Given the description of an element on the screen output the (x, y) to click on. 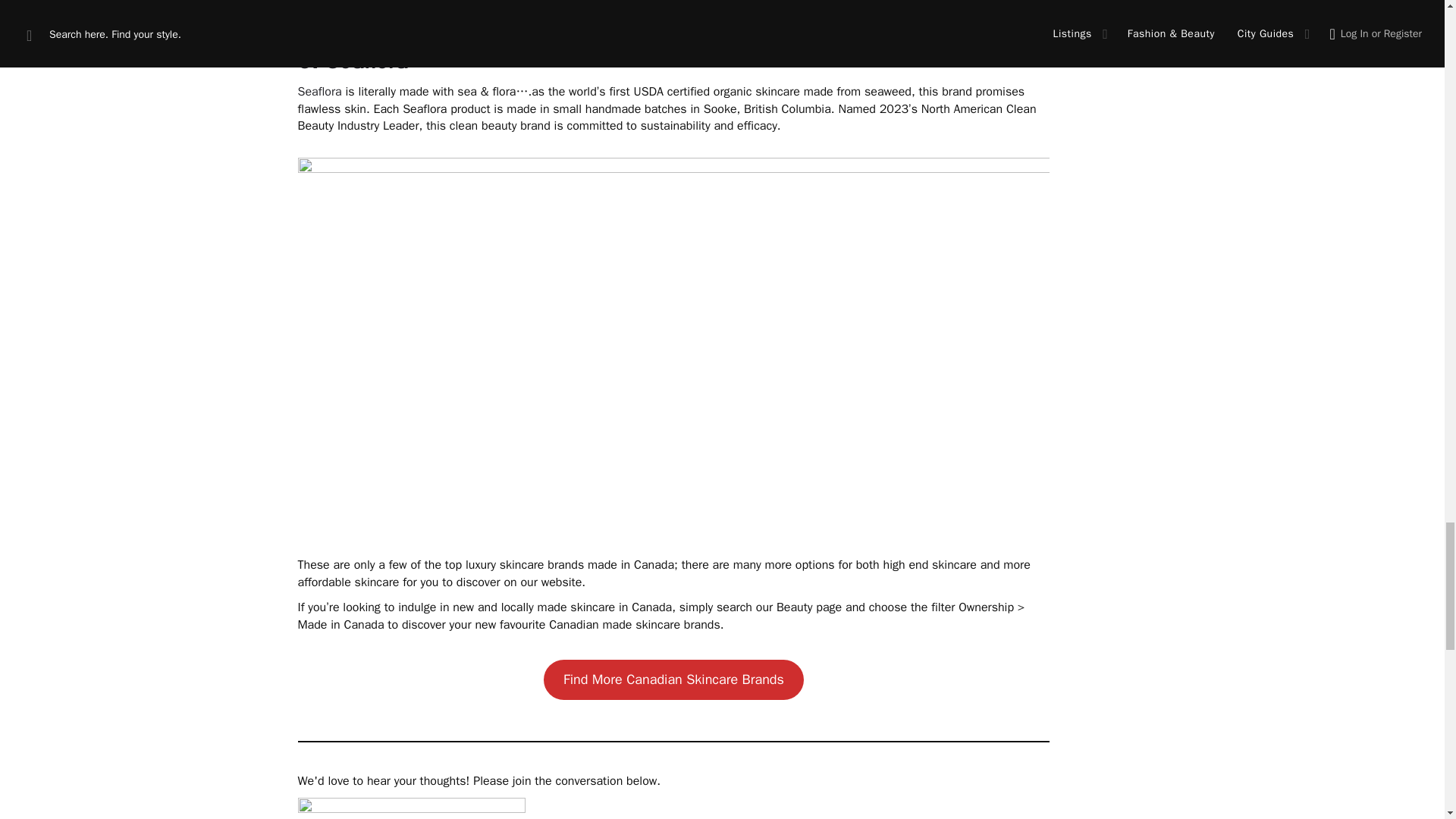
Seaflora (318, 91)
Seaflora (365, 60)
Find More Canadian Skincare Brands (673, 680)
